Given the description of an element on the screen output the (x, y) to click on. 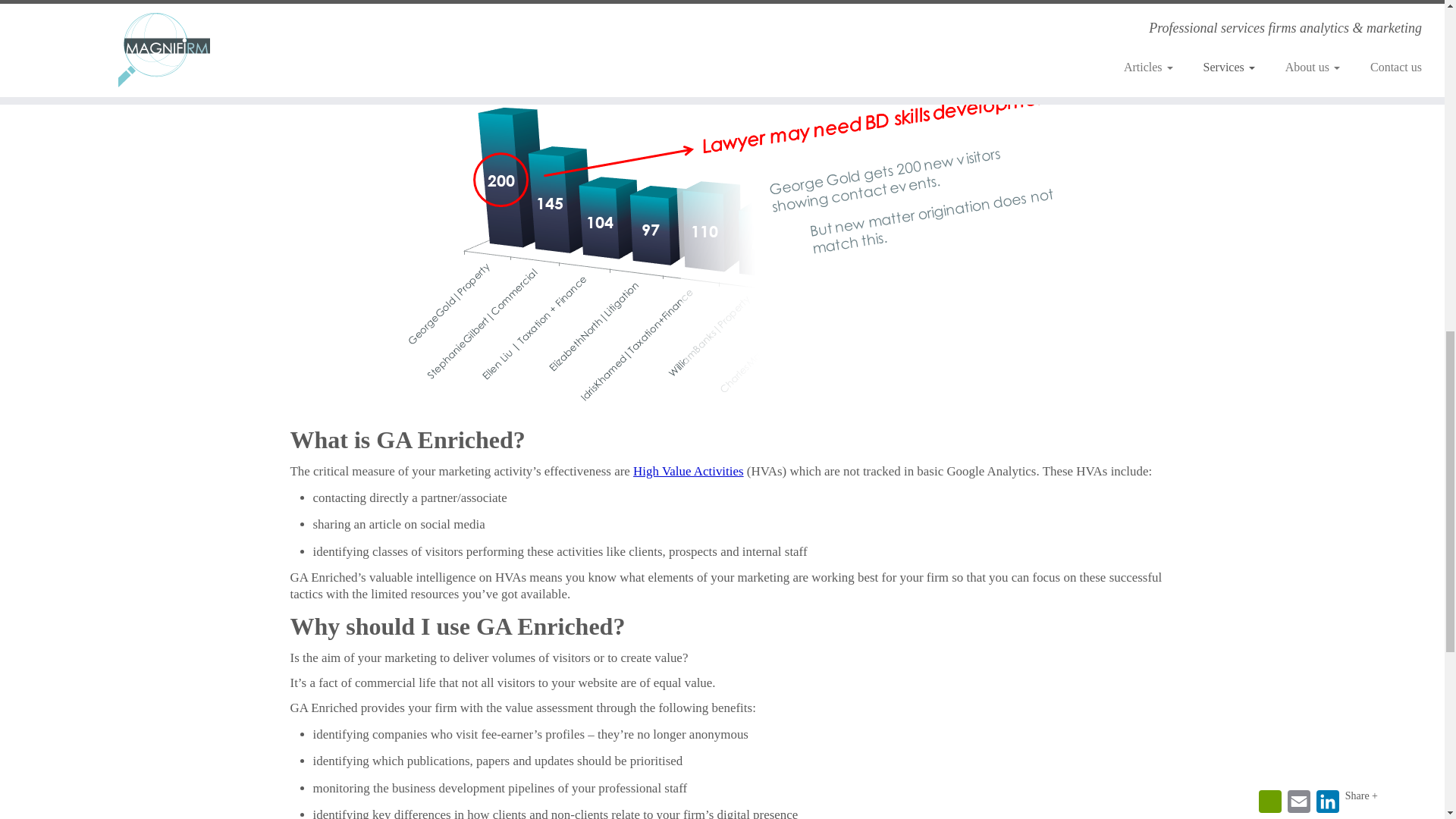
High Value Activities (688, 471)
